Given the description of an element on the screen output the (x, y) to click on. 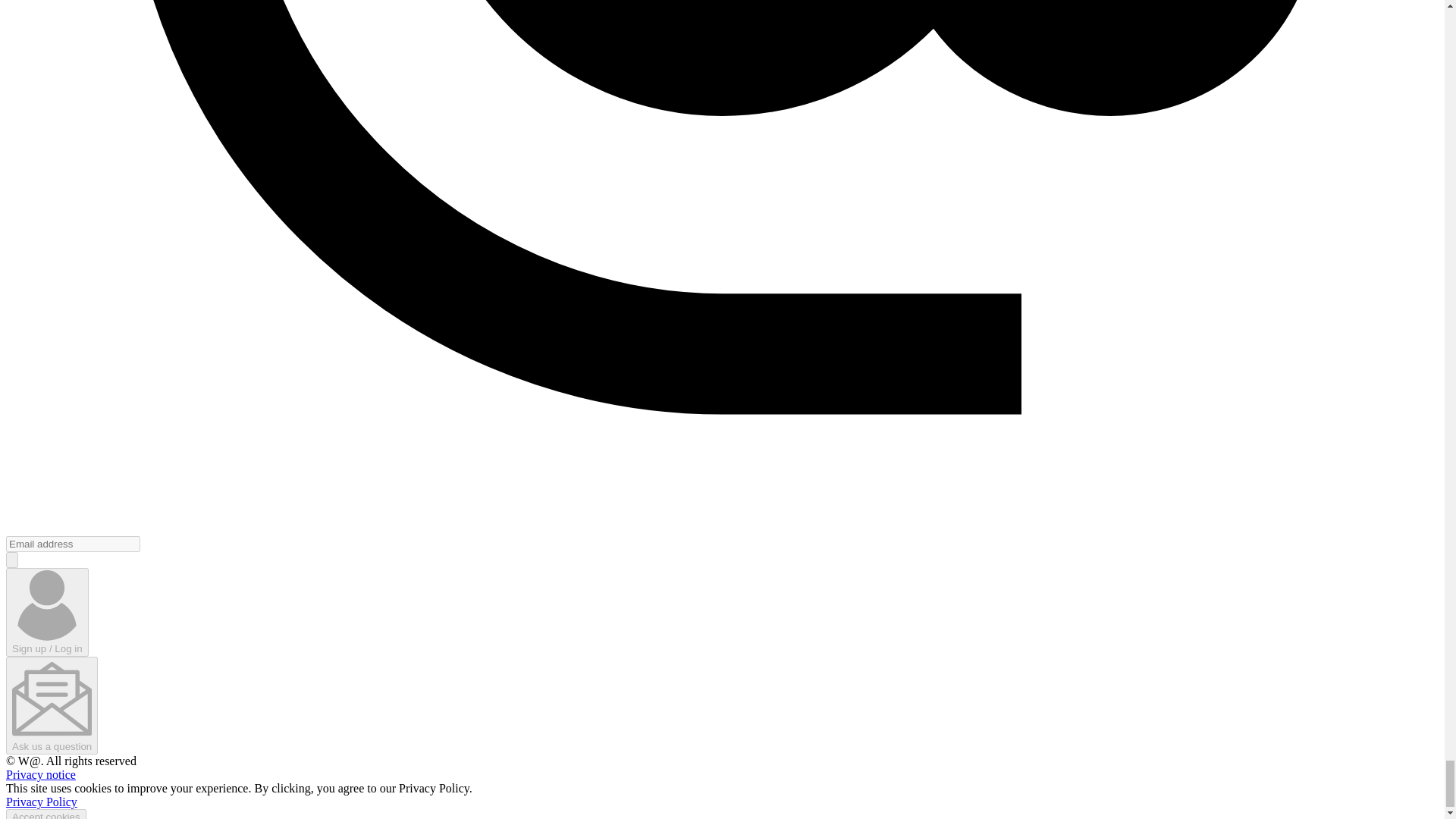
Privacy notice (40, 774)
Ask us a question (51, 705)
